Given the description of an element on the screen output the (x, y) to click on. 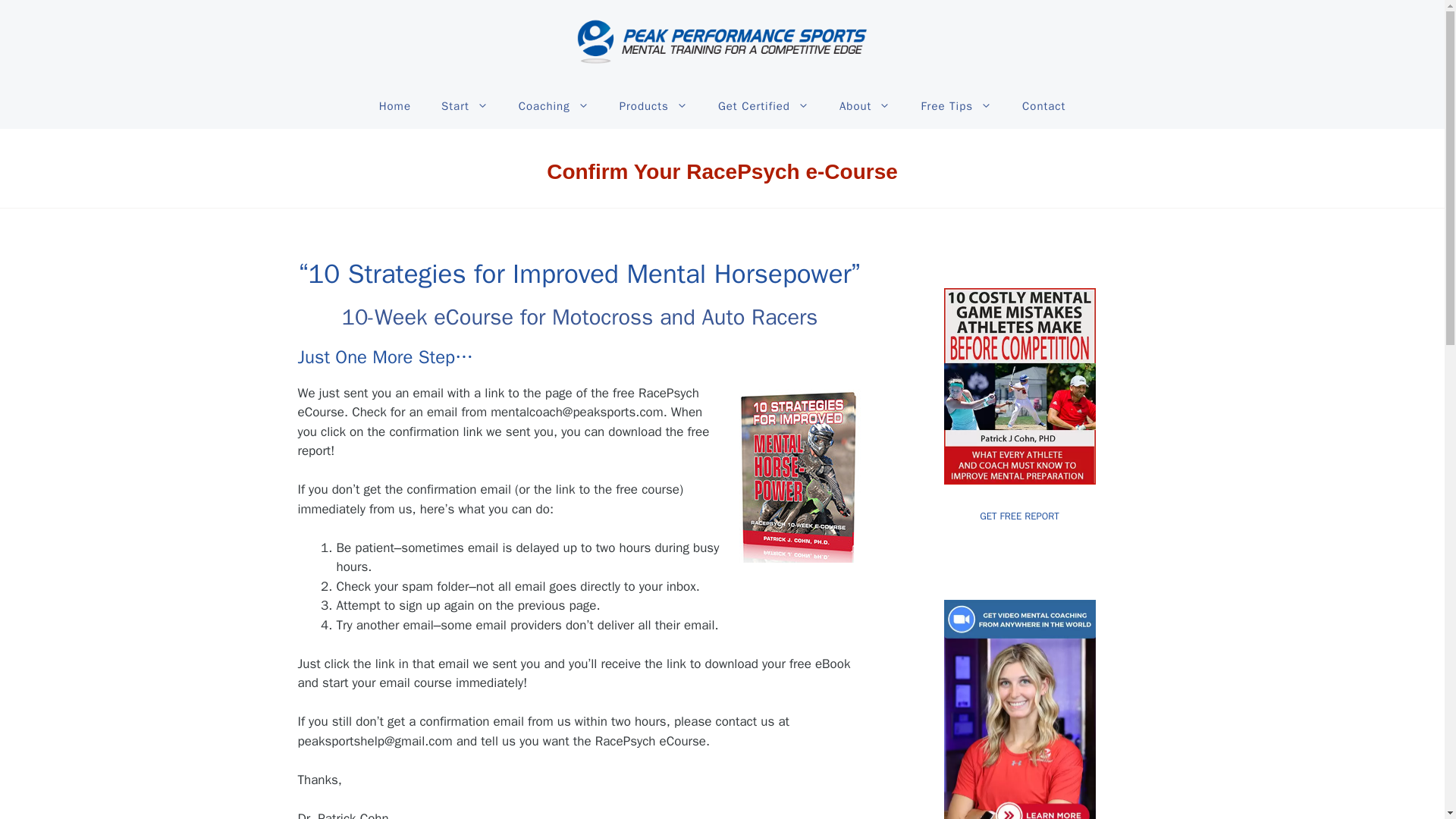
Home (395, 105)
Products (653, 105)
Coaching (553, 105)
Get Certified (763, 105)
About (864, 105)
Start (464, 105)
